Given the description of an element on the screen output the (x, y) to click on. 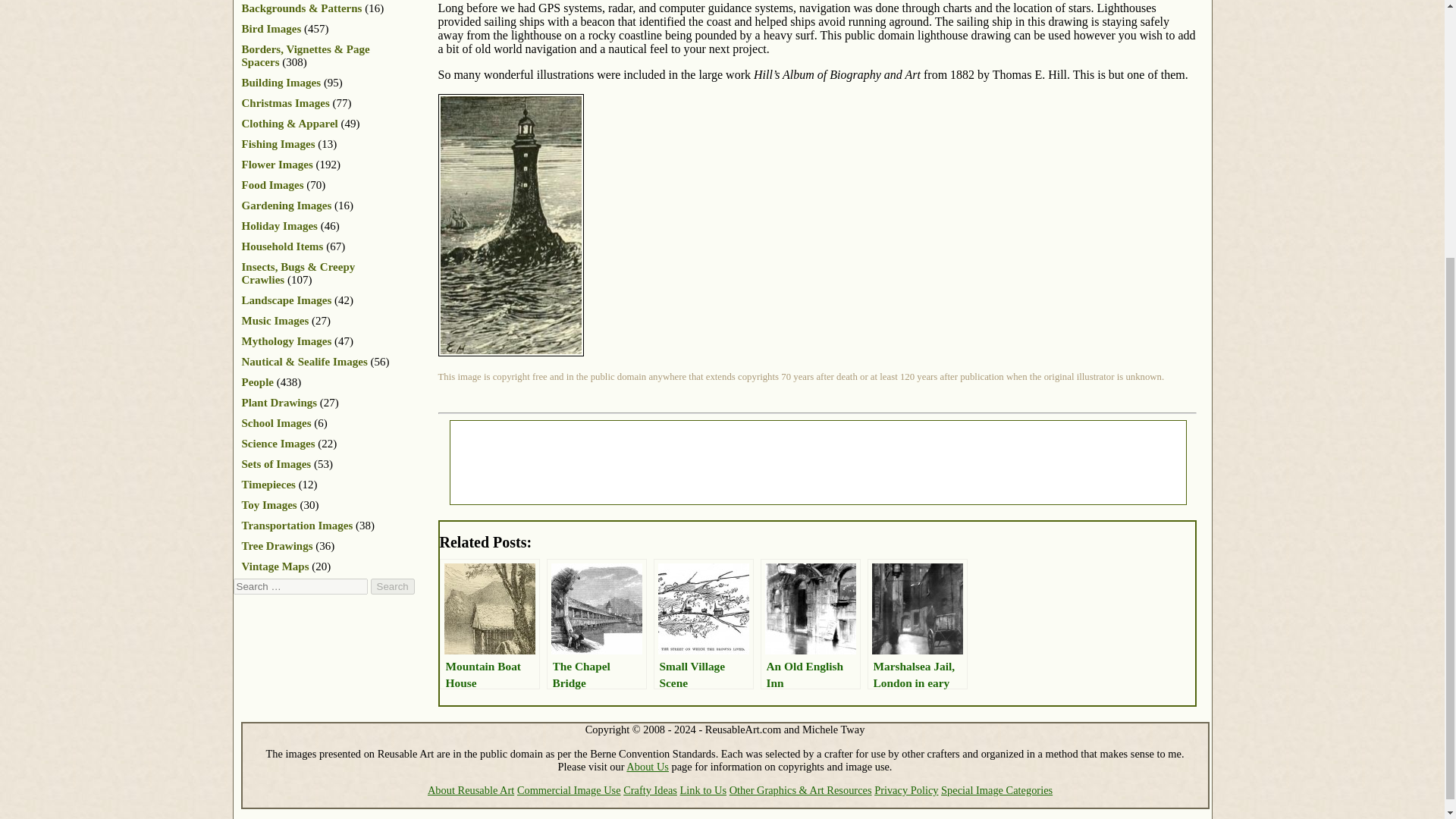
Bird Images (271, 28)
Food Images (271, 184)
Mythology Images (286, 340)
Transportation Images (296, 525)
Landscape Images (286, 300)
Holiday Images (279, 225)
Search (391, 586)
Timepieces (268, 484)
Christmas Images (285, 102)
People (257, 381)
